Given the description of an element on the screen output the (x, y) to click on. 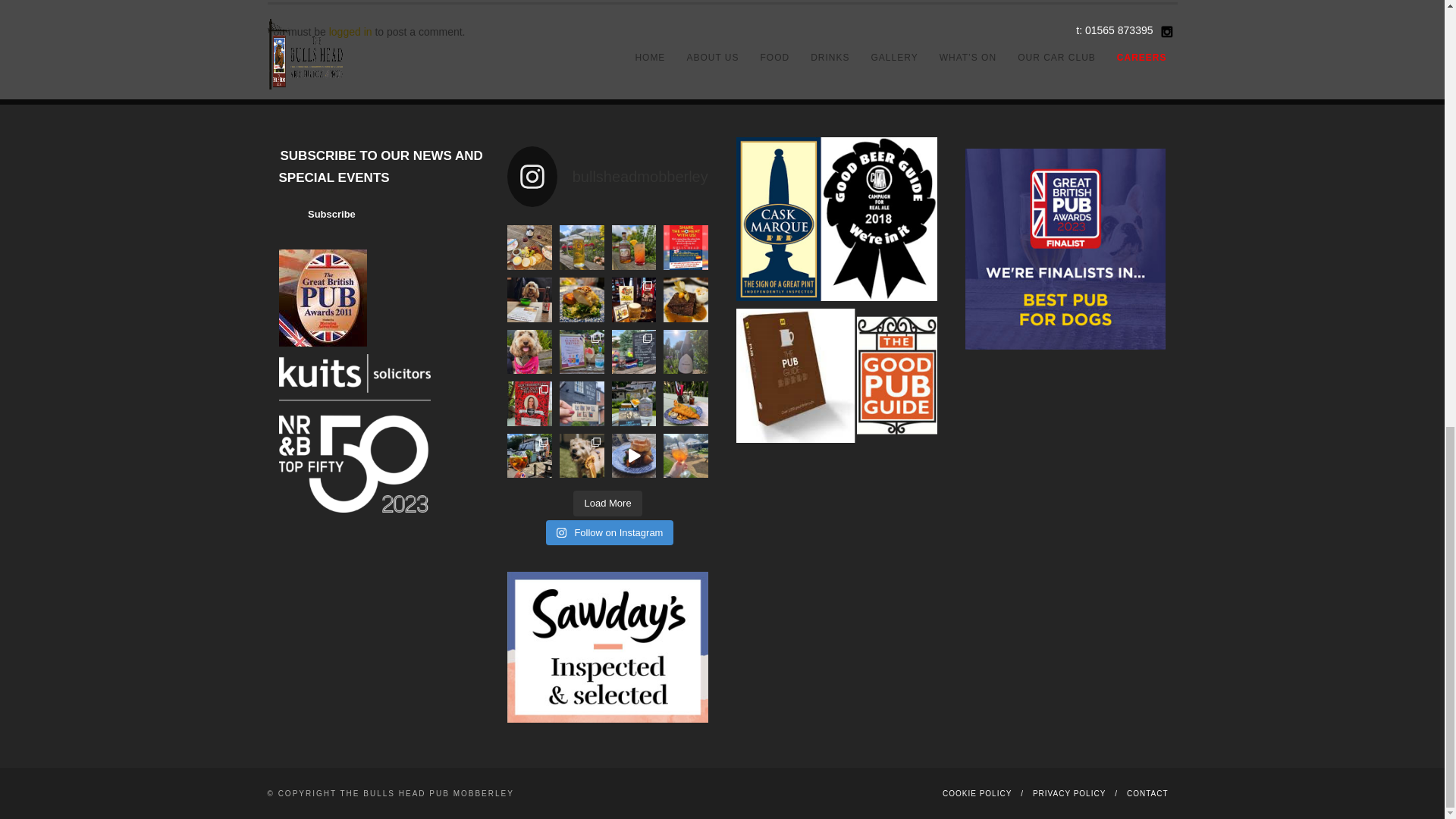
Preview (320, 214)
